Given the description of an element on the screen output the (x, y) to click on. 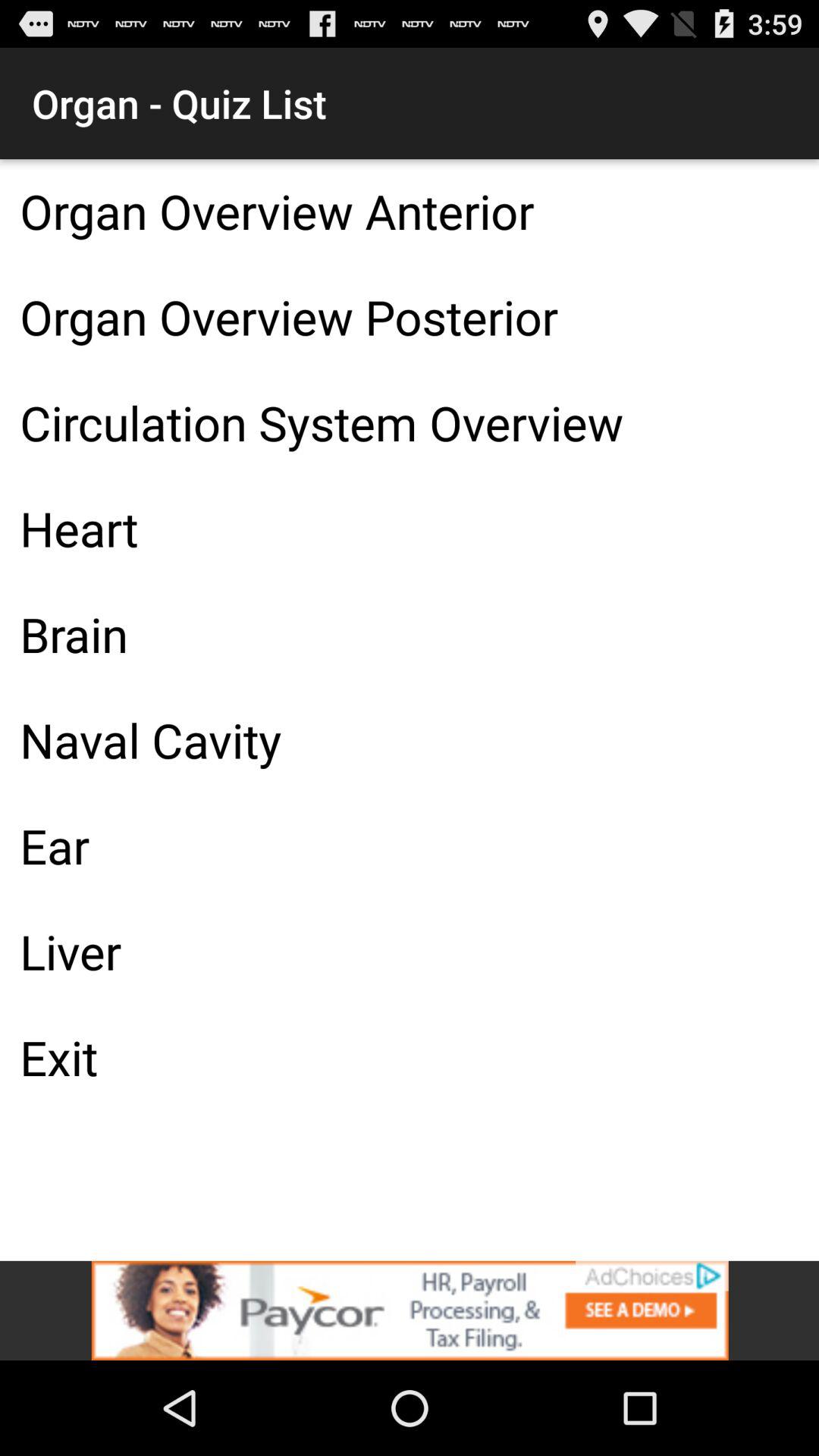
view advertisement (409, 1310)
